Given the description of an element on the screen output the (x, y) to click on. 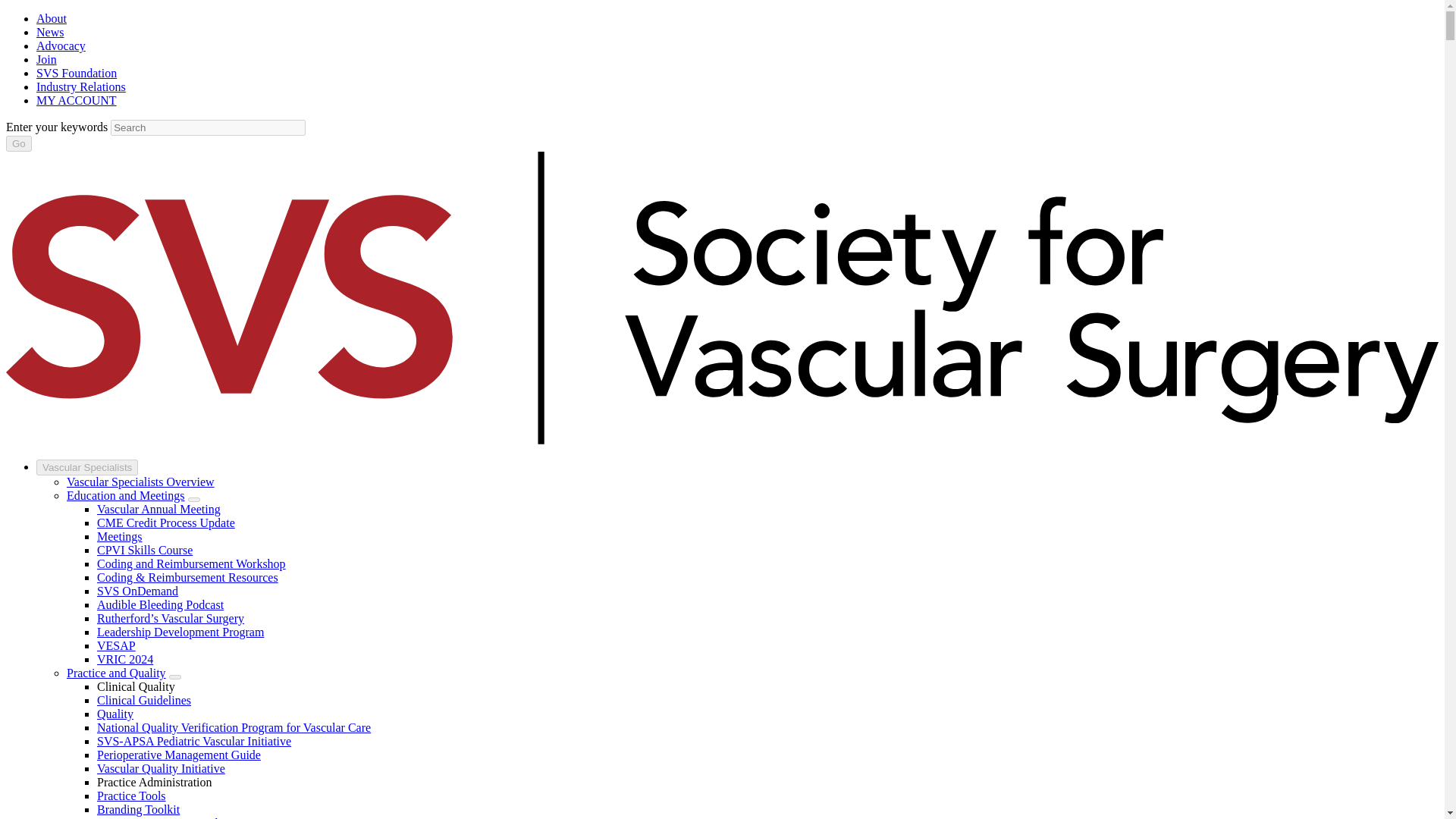
Branding Toolkit (138, 809)
Vascular Annual Meeting (159, 508)
Industry Relations (80, 86)
Practice and Quality (115, 672)
Leadership Development Program (180, 631)
Coding and Reimbursement Workshop (191, 563)
National Quality Verification Program for Vascular Care (234, 727)
Vascular Specialists (87, 467)
News (50, 31)
SVS OnDemand (137, 590)
VESAP (116, 645)
About (51, 18)
Clinical Guidelines (143, 699)
Join (46, 59)
SVS Foundation (76, 72)
